Given the description of an element on the screen output the (x, y) to click on. 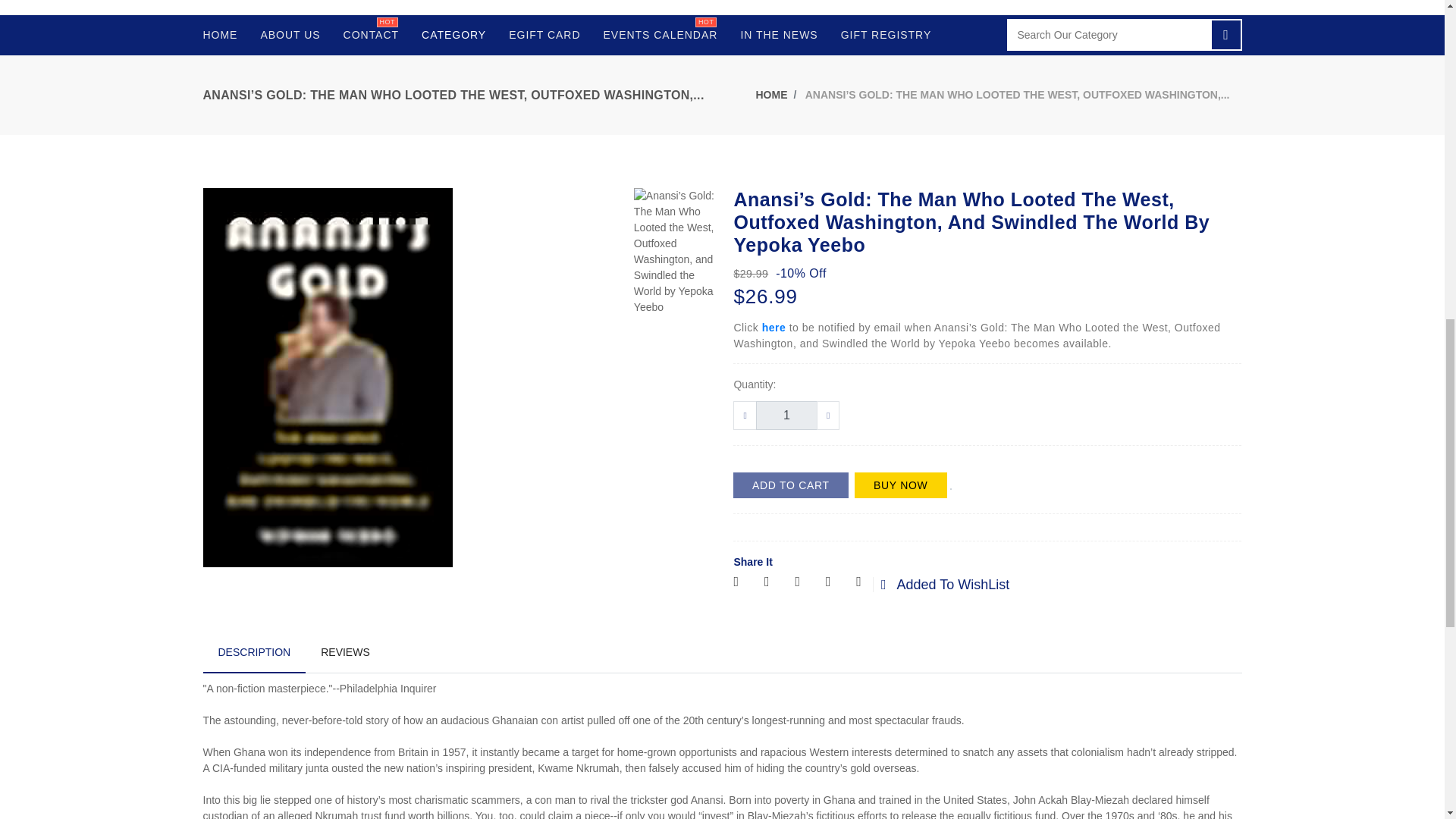
Wishlist (874, 585)
1 (370, 32)
CATEGORY (785, 415)
ABOUT US (453, 32)
HOME (289, 32)
